Given the description of an element on the screen output the (x, y) to click on. 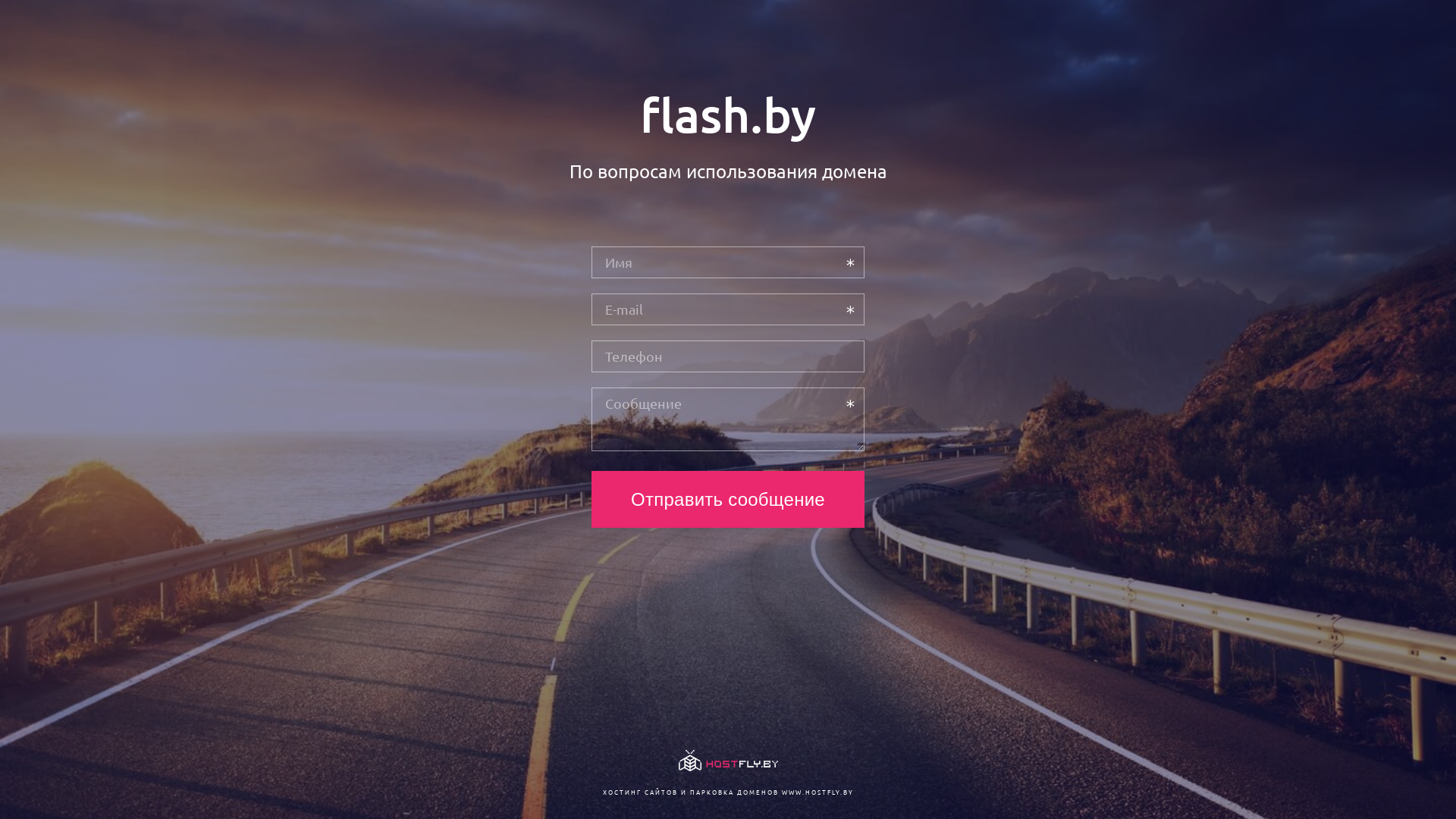
WWW.HOSTFLY.BY Element type: text (817, 791)
